Given the description of an element on the screen output the (x, y) to click on. 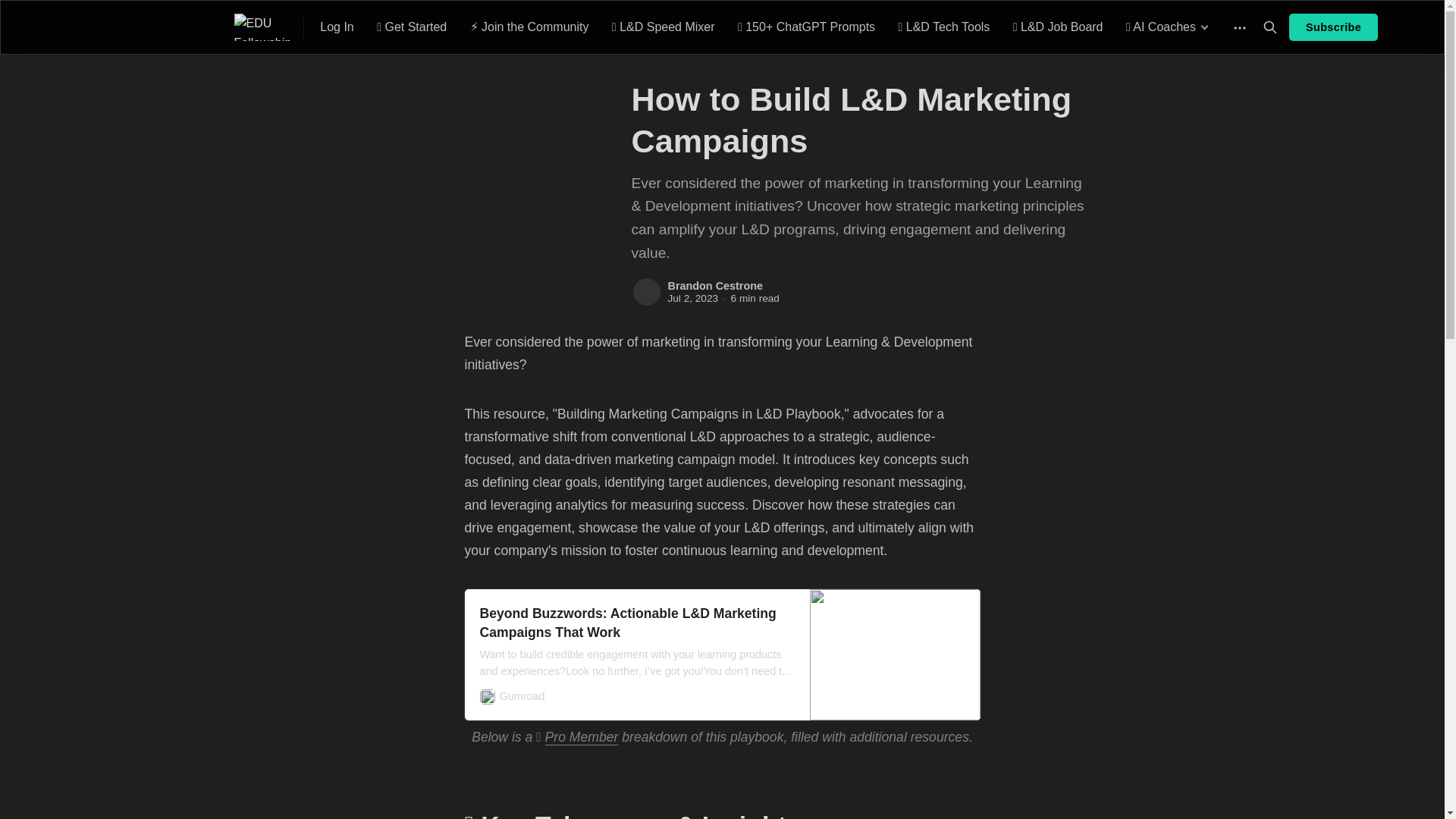
Brandon Cestrone (714, 285)
Search (1270, 26)
Log In (336, 27)
Pro Member (581, 737)
Brandon Cestrone (645, 291)
Subscribe (1332, 26)
